Given the description of an element on the screen output the (x, y) to click on. 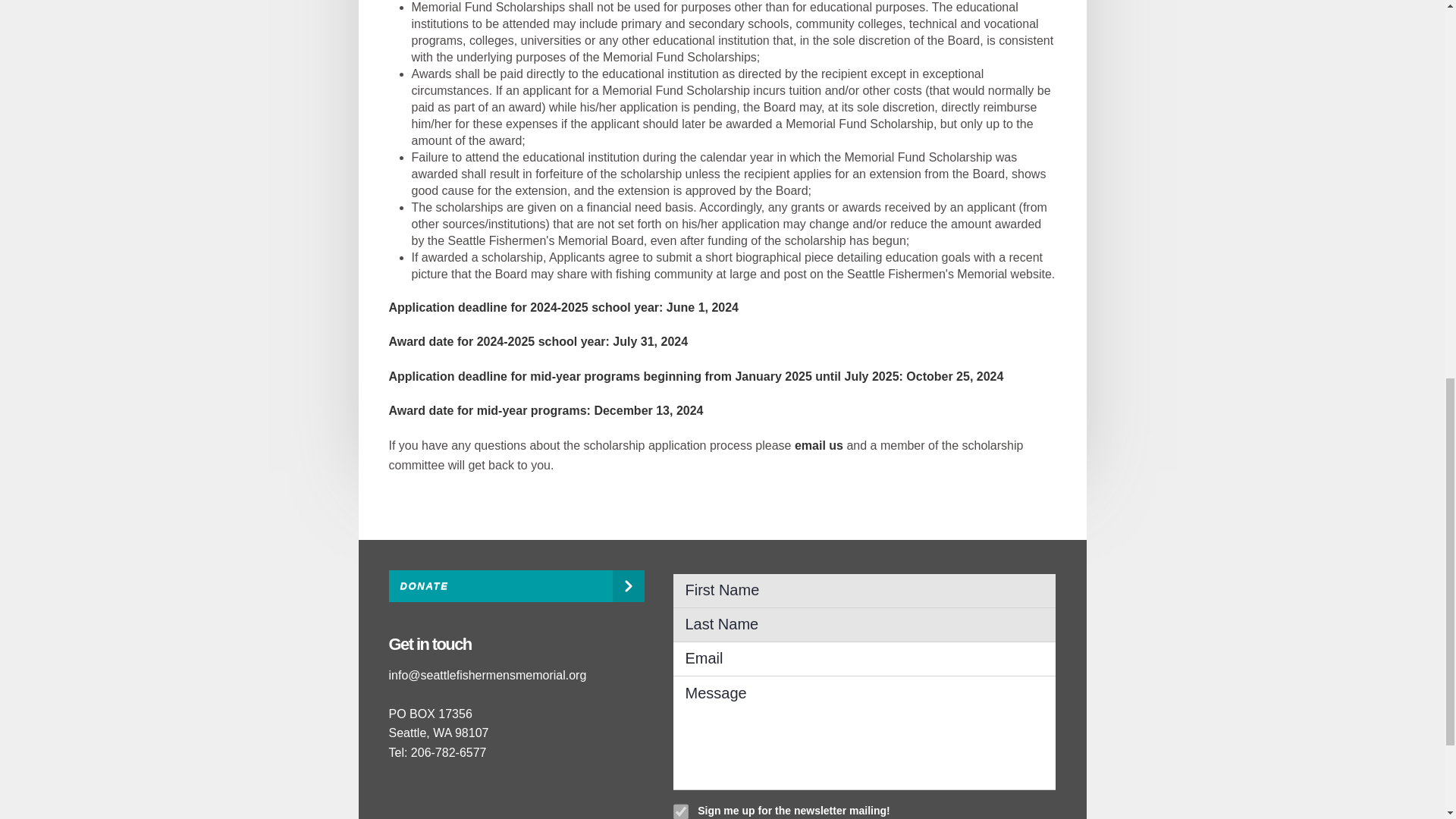
DONATE (516, 585)
206-782-6577 (448, 752)
email us (818, 445)
